Given the description of an element on the screen output the (x, y) to click on. 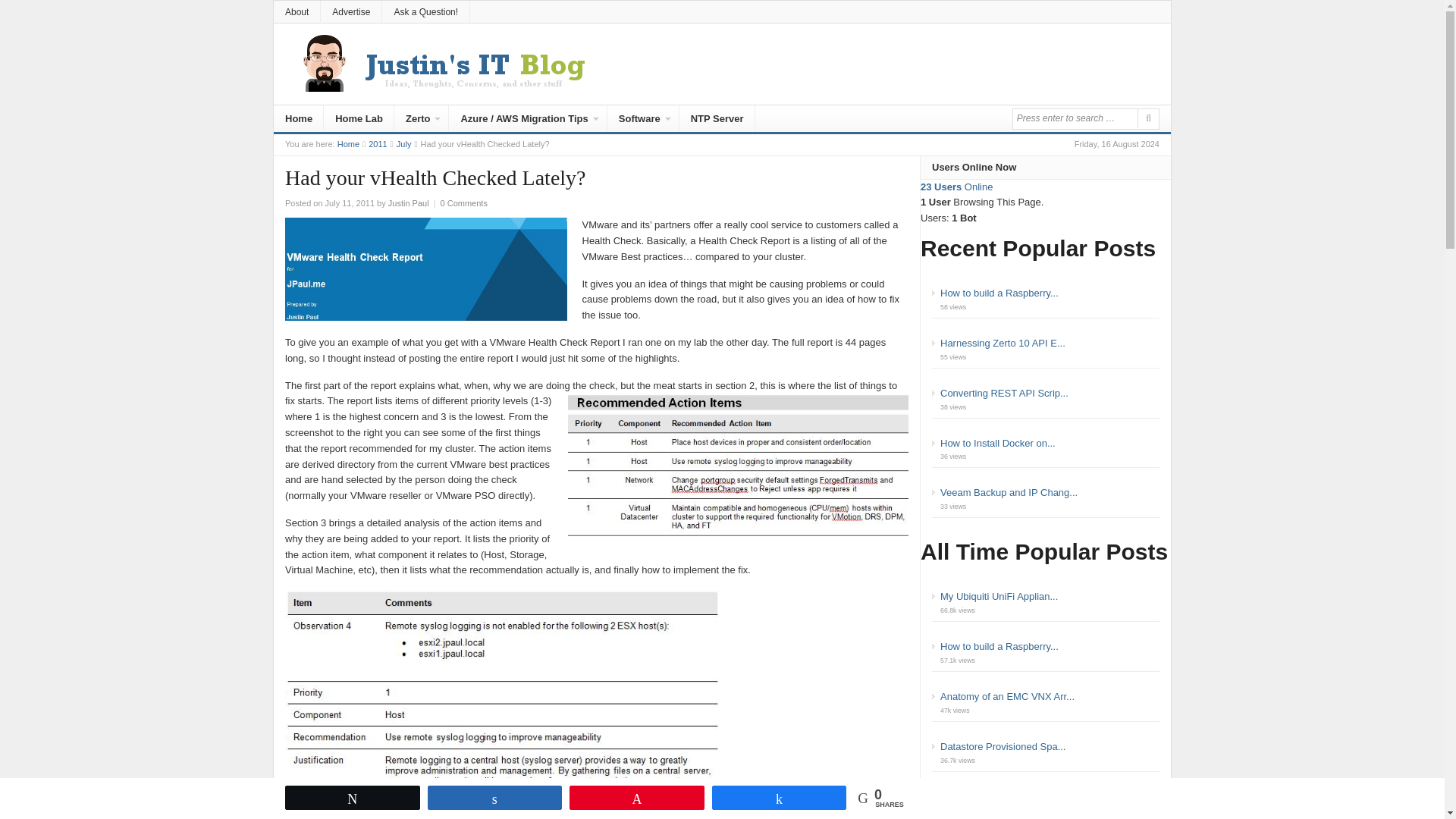
Advertise (350, 11)
action item (502, 704)
Home Lab (358, 119)
recommended items (737, 464)
How to Install Docker on a Raspberry Pi 5 (997, 442)
Home (298, 119)
Converting REST API Scripts for ZVM Appliance (1004, 392)
HealthCheck (426, 268)
